Given the description of an element on the screen output the (x, y) to click on. 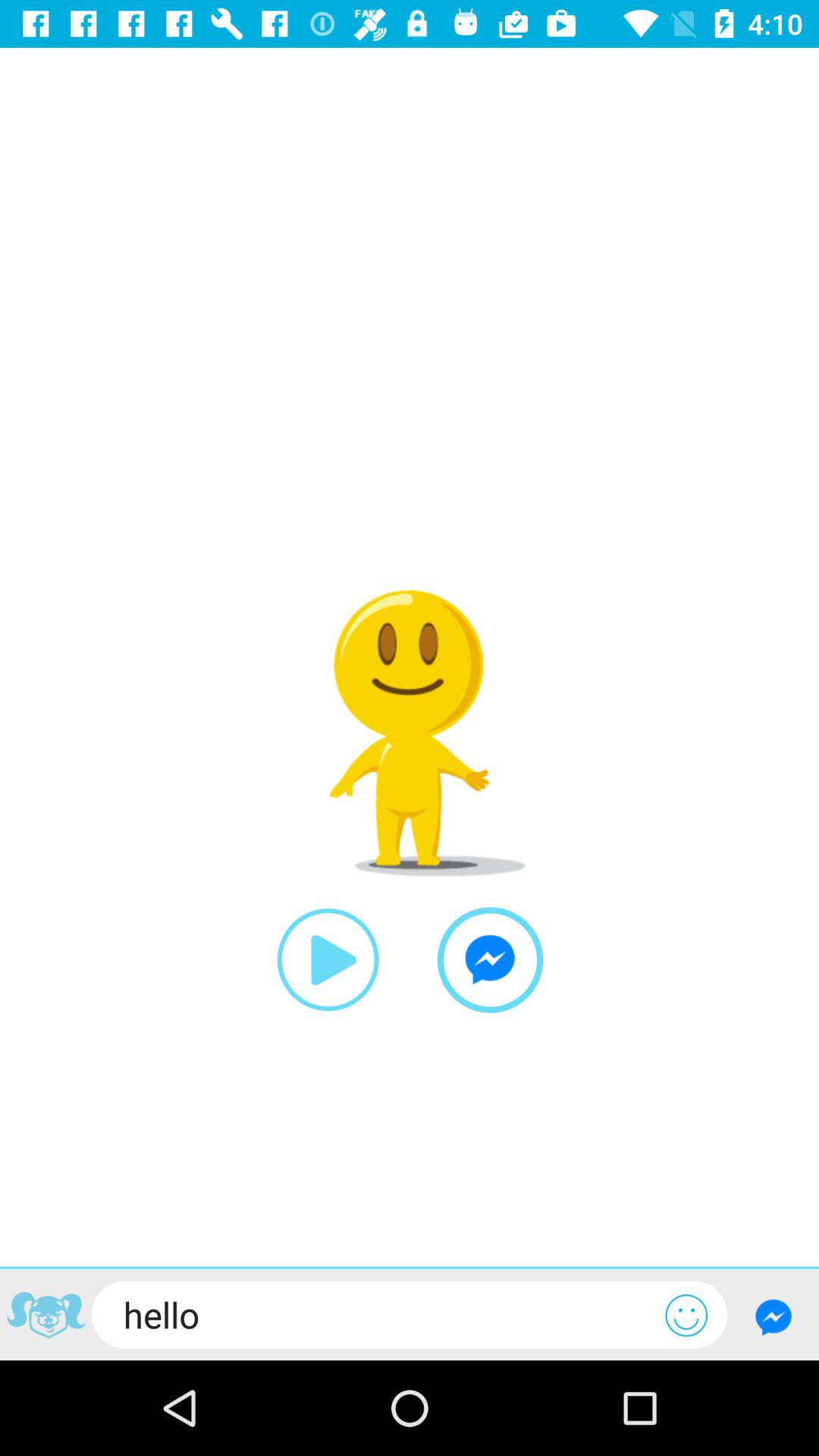
open emoji keyboard (686, 1315)
